Given the description of an element on the screen output the (x, y) to click on. 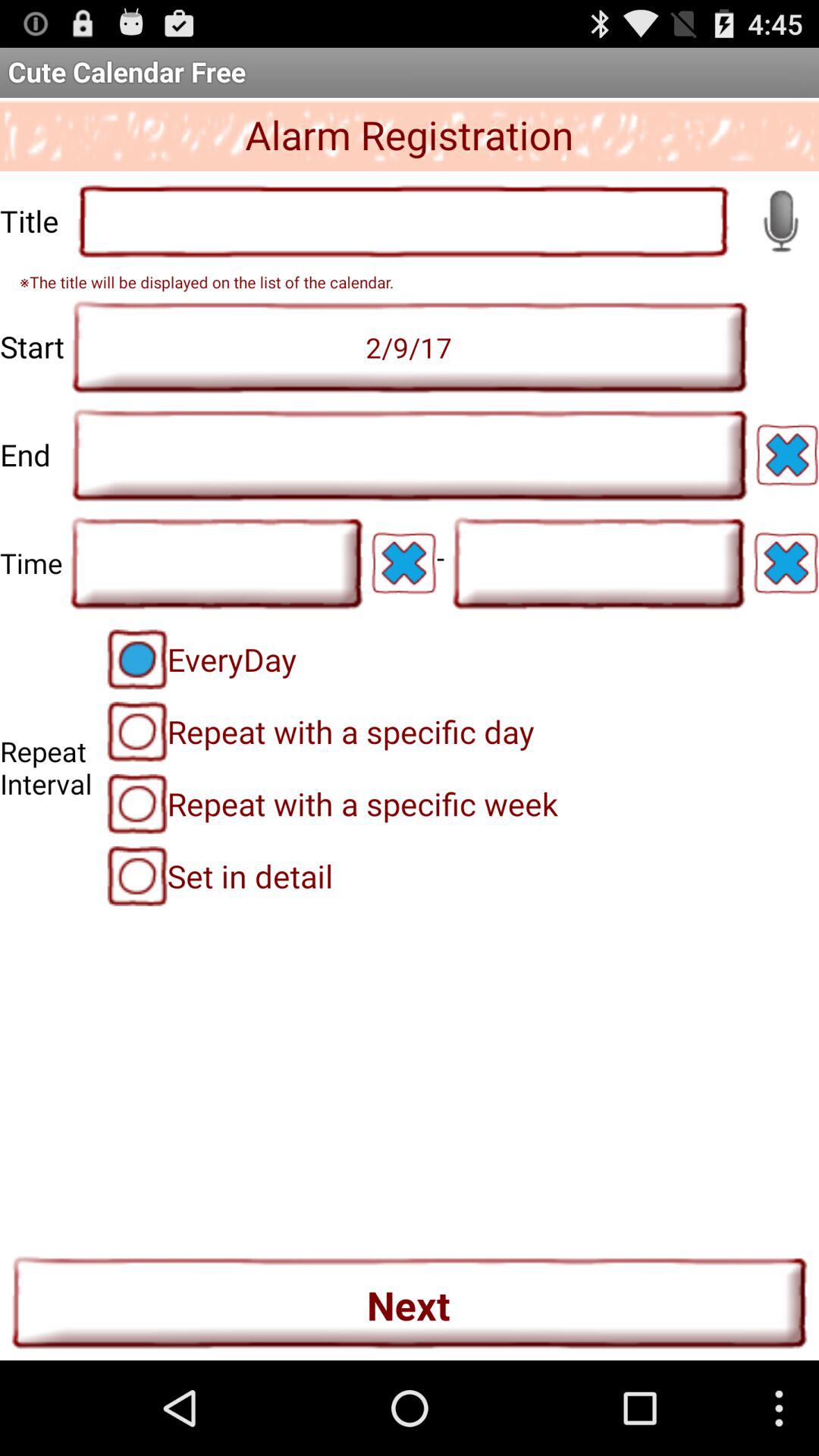
press the icon below set in detail item (409, 1302)
